Given the description of an element on the screen output the (x, y) to click on. 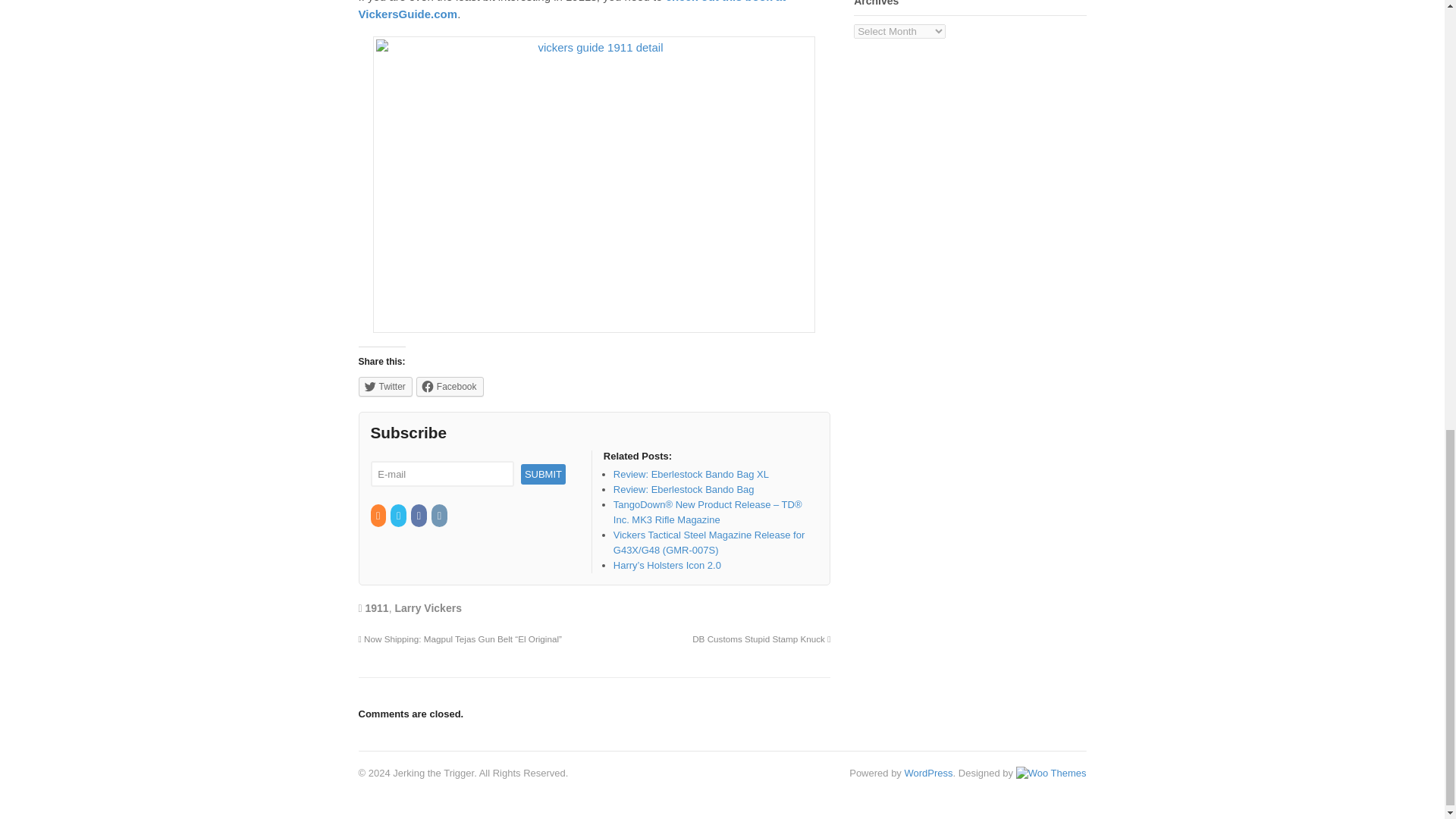
Instagram (439, 515)
Review: Eberlestock Bando Bag (683, 489)
1911 (376, 607)
Twitter (385, 386)
DB Customs Stupid Stamp Knuck (761, 638)
Submit (543, 474)
Facebook (449, 386)
Review: Eberlestock Bando Bag XL (690, 473)
RSS (378, 515)
Larry Vickers (427, 607)
check out this book at VickersGuide.com (572, 10)
Review: Eberlestock Bando Bag (683, 489)
E-mail (441, 474)
Click to share on Facebook (449, 386)
Submit (543, 474)
